Given the description of an element on the screen output the (x, y) to click on. 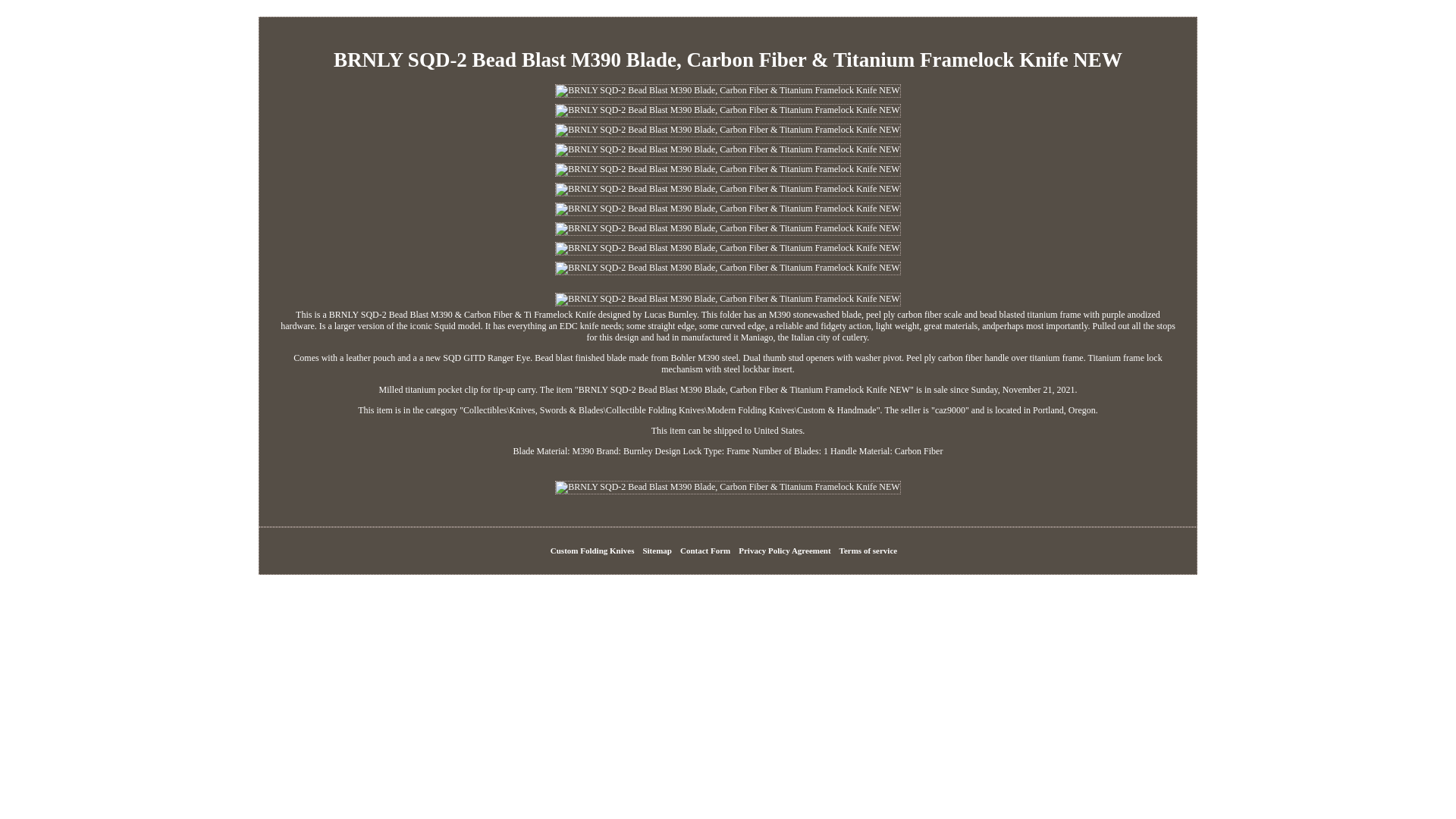
Custom Folding Knives (592, 550)
Terms of service (869, 550)
Contact Form (704, 550)
Privacy Policy Agreement (783, 550)
Sitemap (656, 550)
